Given the description of an element on the screen output the (x, y) to click on. 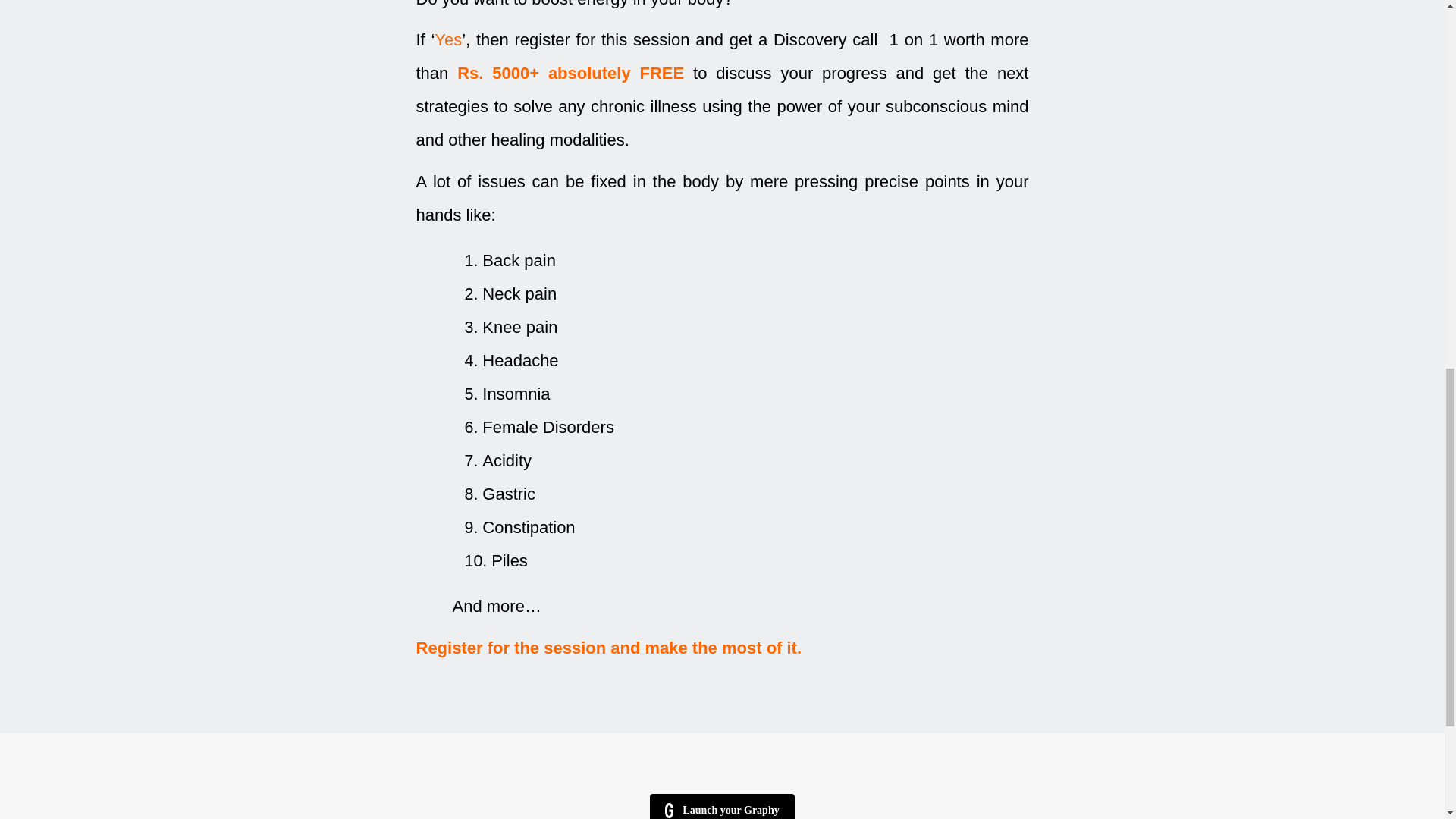
Launch your Graphy (721, 806)
Register for the session and make the most of it. (608, 648)
